Given the description of an element on the screen output the (x, y) to click on. 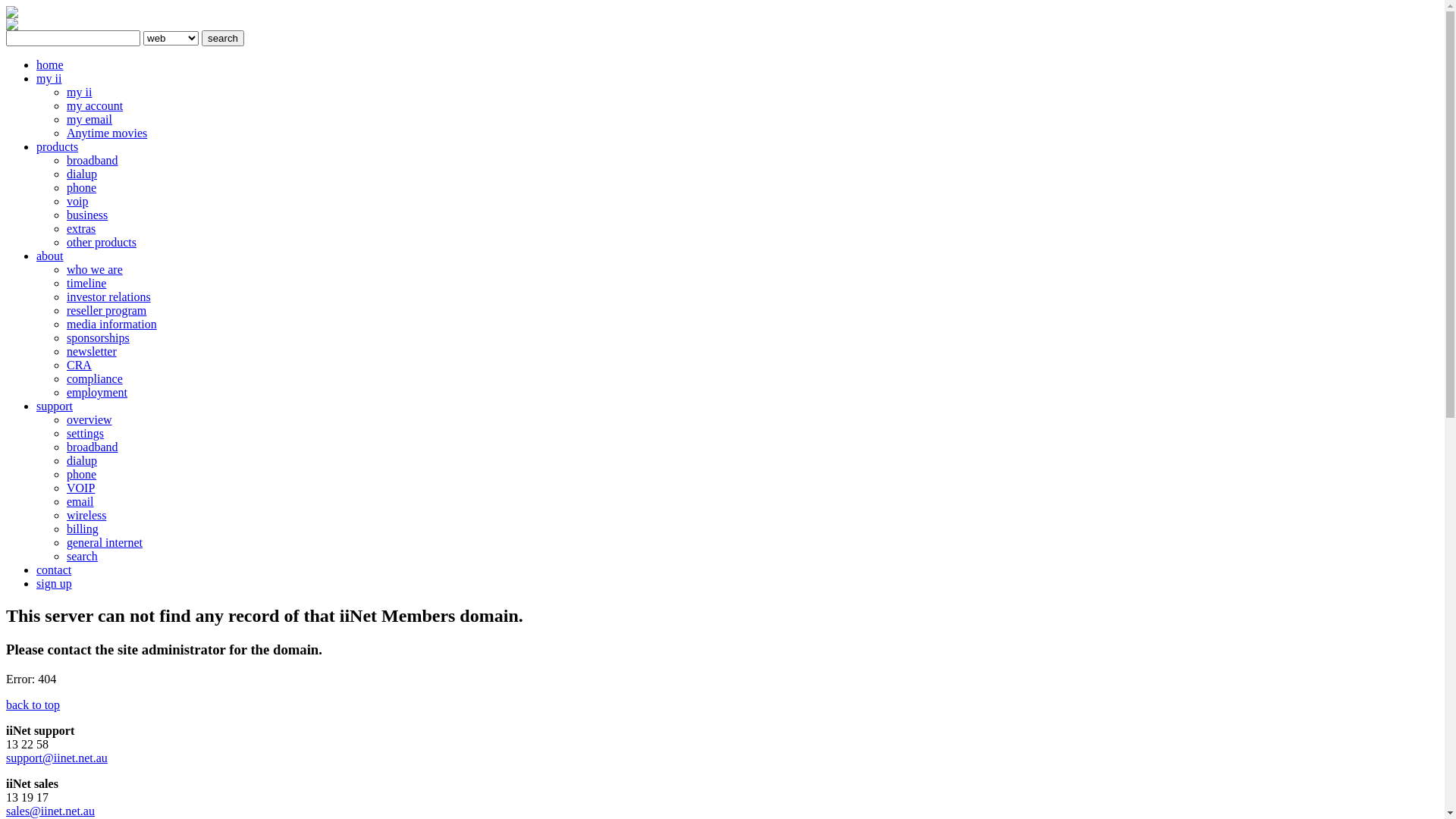
voip Element type: text (76, 200)
compliance Element type: text (94, 378)
search Element type: text (222, 38)
CRA Element type: text (78, 364)
overview Element type: text (89, 419)
my account Element type: text (94, 105)
search Element type: text (81, 555)
settings Element type: text (84, 432)
my ii Element type: text (48, 78)
support@iinet.net.au Element type: text (56, 757)
Anytime movies Element type: text (106, 132)
other products Element type: text (101, 241)
media information Element type: text (111, 323)
business Element type: text (86, 214)
sign up Element type: text (54, 583)
products Element type: text (57, 146)
my ii Element type: text (78, 91)
VOIP Element type: text (80, 487)
sales@iinet.net.au Element type: text (50, 810)
investor relations Element type: text (108, 296)
dialup Element type: text (81, 460)
sponsorships Element type: text (97, 337)
extras Element type: text (80, 228)
who we are Element type: text (94, 269)
home Element type: text (49, 64)
billing Element type: text (82, 528)
timeline Element type: text (86, 282)
support Element type: text (54, 405)
my email Element type: text (89, 118)
back to top Element type: text (32, 704)
contact Element type: text (53, 569)
phone Element type: text (81, 187)
phone Element type: text (81, 473)
broadband Element type: text (92, 159)
general internet Element type: text (104, 542)
email Element type: text (80, 501)
employment Element type: text (96, 391)
newsletter Element type: text (91, 351)
broadband Element type: text (92, 446)
about Element type: text (49, 255)
reseller program Element type: text (106, 310)
dialup Element type: text (81, 173)
wireless Element type: text (86, 514)
